Given the description of an element on the screen output the (x, y) to click on. 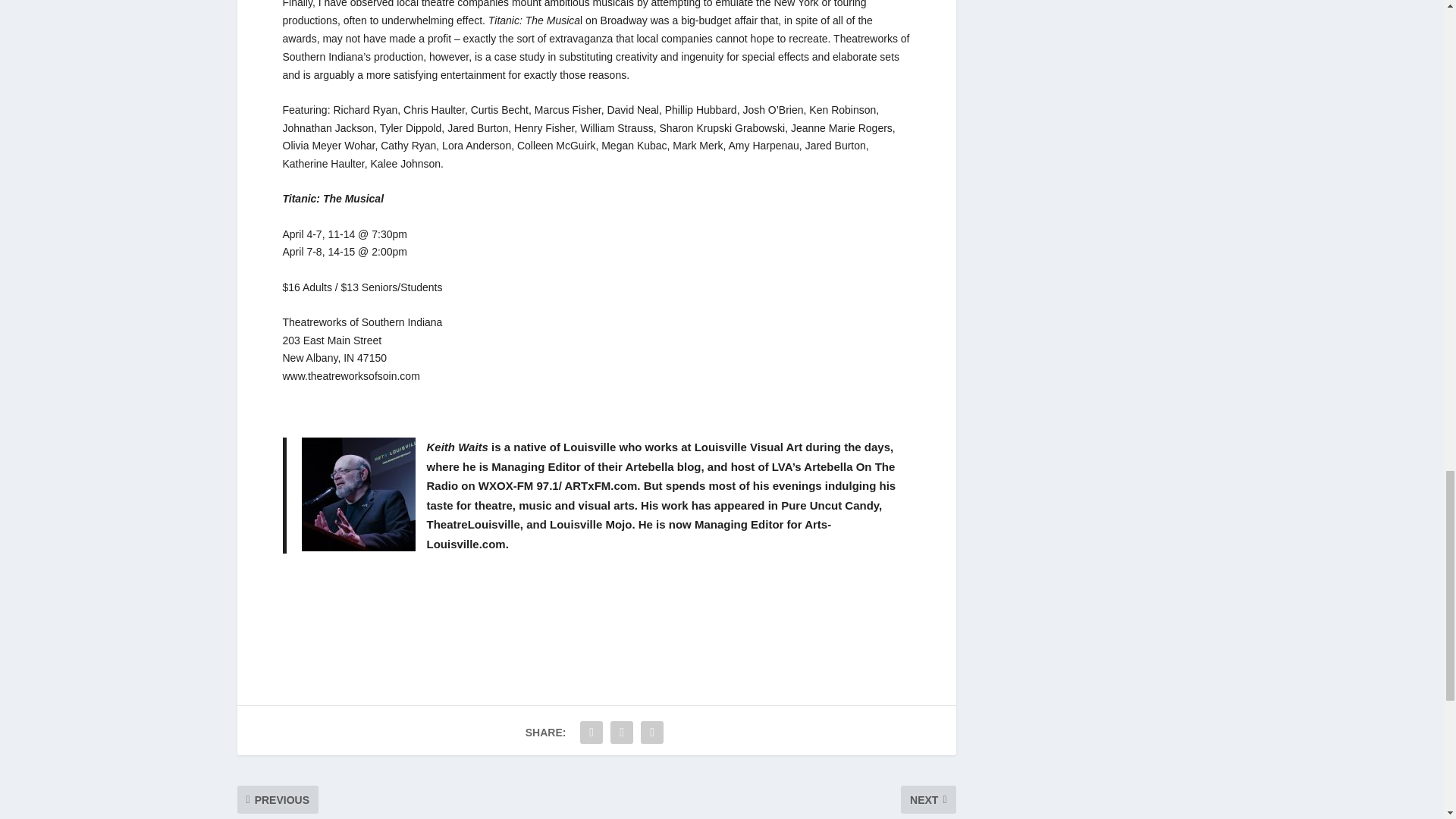
Share "The Folly Of Hubris" via Email (651, 732)
Share "The Folly Of Hubris" via Facebook (591, 732)
Share "The Folly Of Hubris" via Twitter (622, 732)
